Given the description of an element on the screen output the (x, y) to click on. 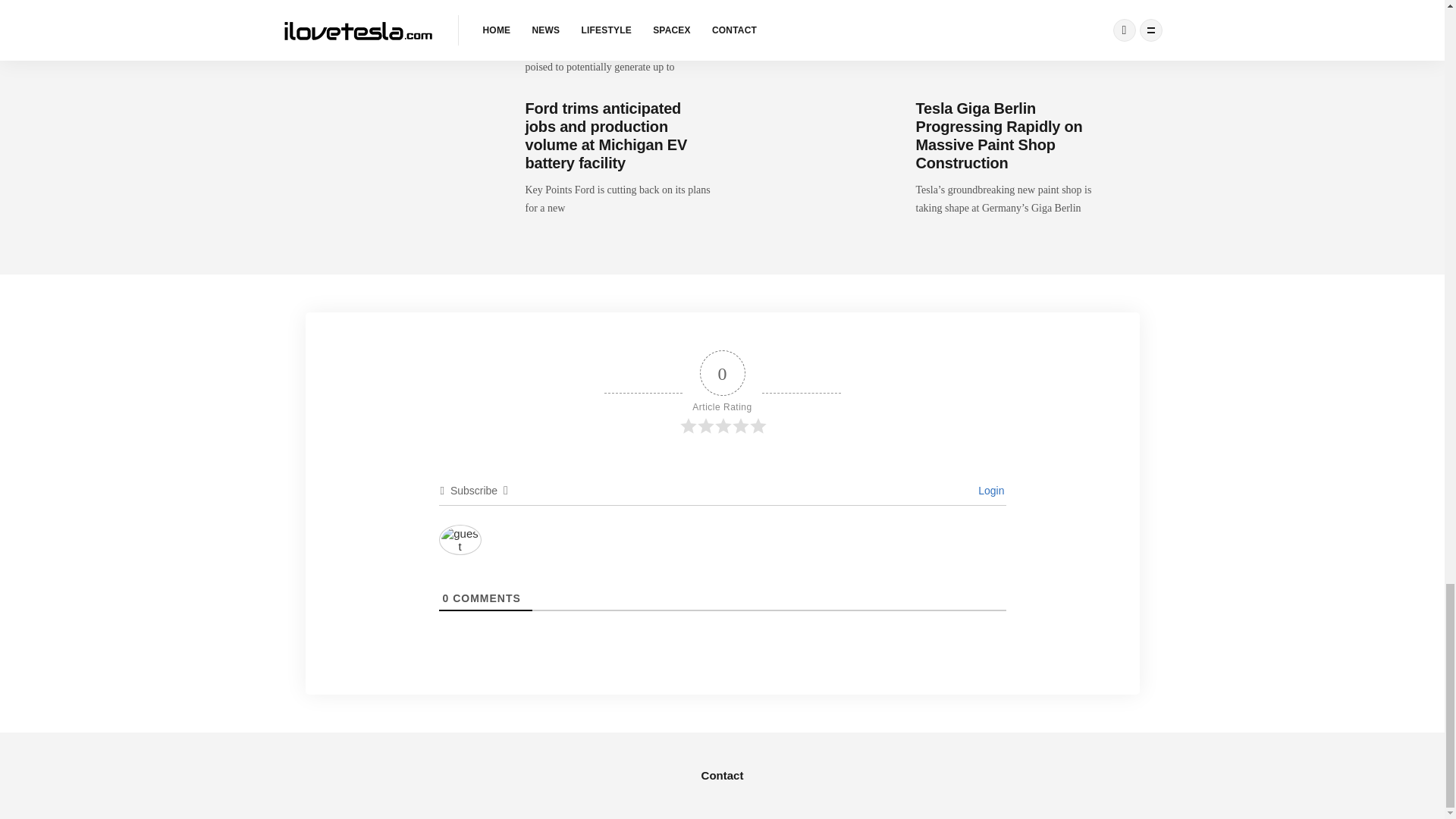
Login (989, 490)
